Given the description of an element on the screen output the (x, y) to click on. 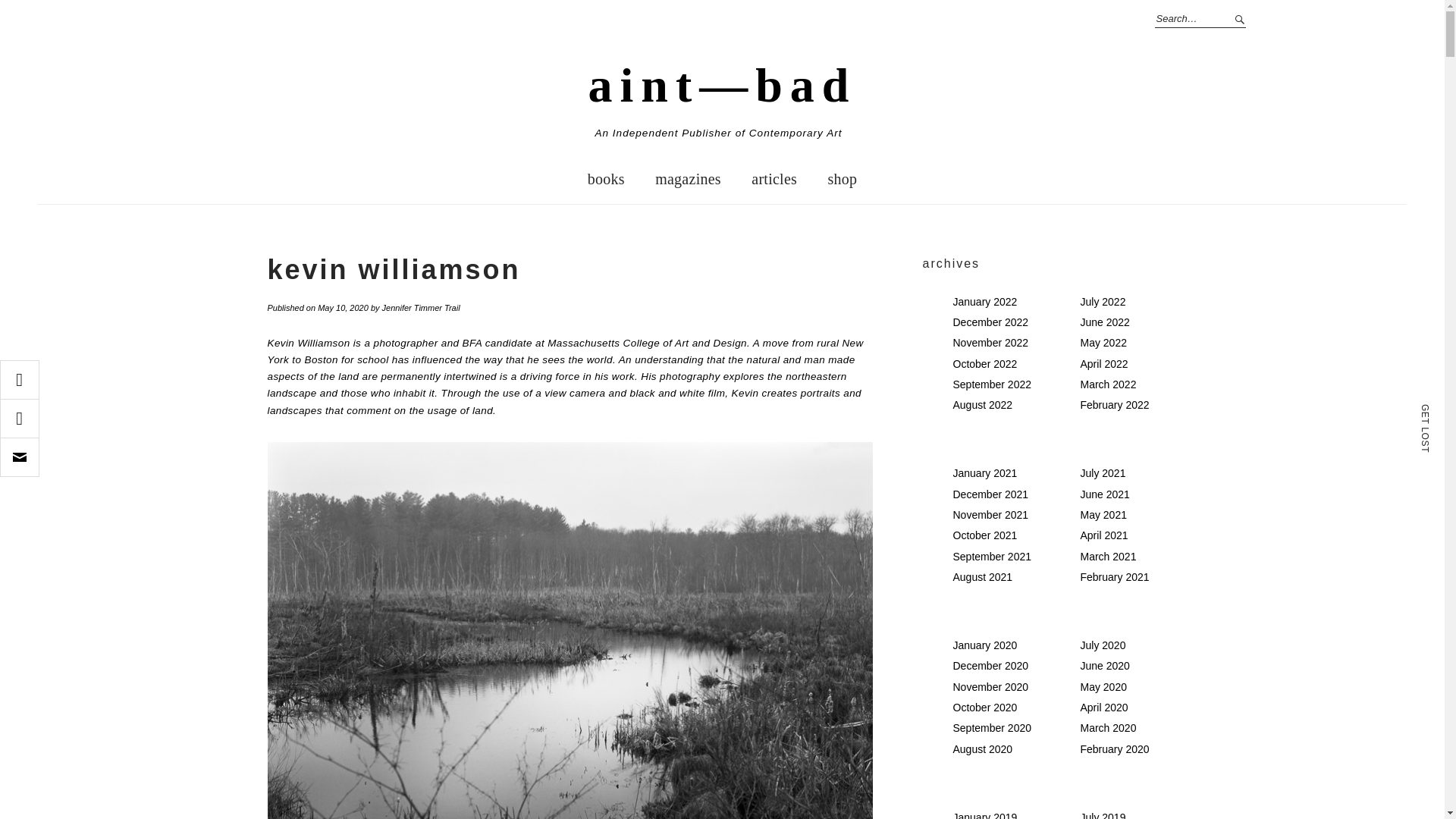
books (606, 178)
December 2022 (989, 322)
magazines (688, 178)
January 2022 (984, 301)
Jennifer Timmer Trail (420, 307)
shop (841, 178)
articles (774, 178)
All posts by Jennifer Timmer Trail (420, 307)
May 10, 2020 (342, 307)
